Given the description of an element on the screen output the (x, y) to click on. 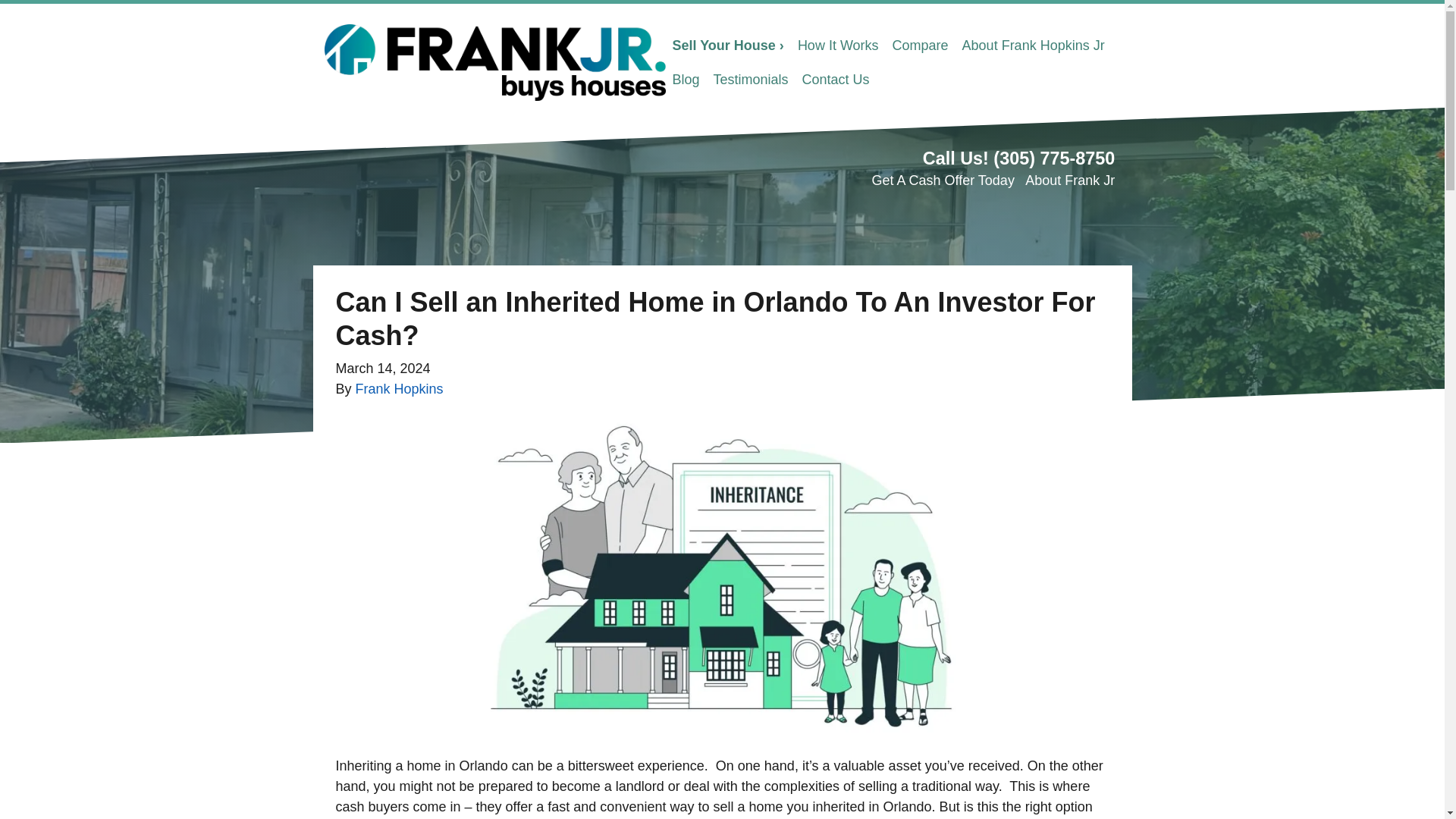
About Frank Jr (1070, 180)
About Frank Hopkins Jr (1033, 45)
Contact Us (835, 80)
Testimonials (750, 80)
About Frank Hopkins Jr (1033, 45)
Testimonials (750, 80)
Blog (685, 80)
Compare (920, 45)
Compare (920, 45)
Frank Hopkins (399, 388)
